Given the description of an element on the screen output the (x, y) to click on. 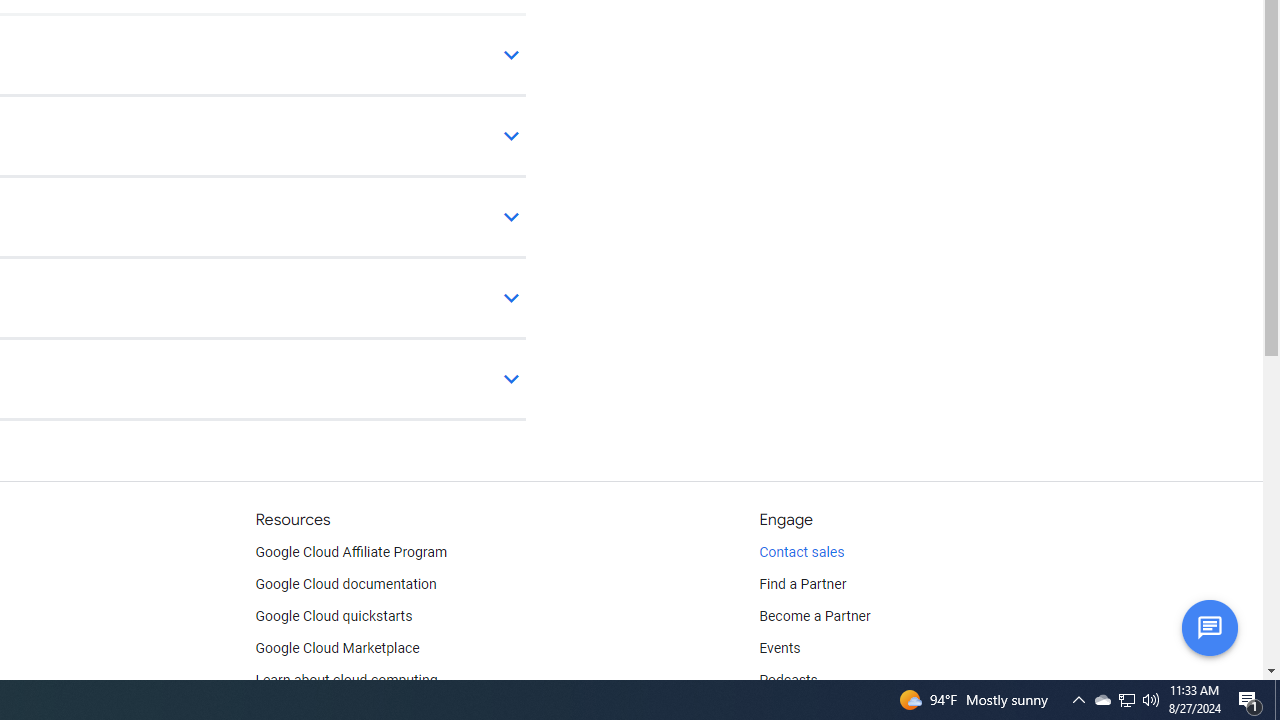
Google Cloud Marketplace (336, 648)
Google Cloud quickstarts (333, 616)
Google Cloud Affiliate Program (351, 552)
Learn about cloud computing (345, 680)
Become a Partner (814, 616)
Podcasts (788, 680)
Find a Partner (803, 584)
Google Cloud documentation (345, 584)
Button to activate chat (1209, 627)
Events (780, 648)
Contact sales (801, 552)
